Given the description of an element on the screen output the (x, y) to click on. 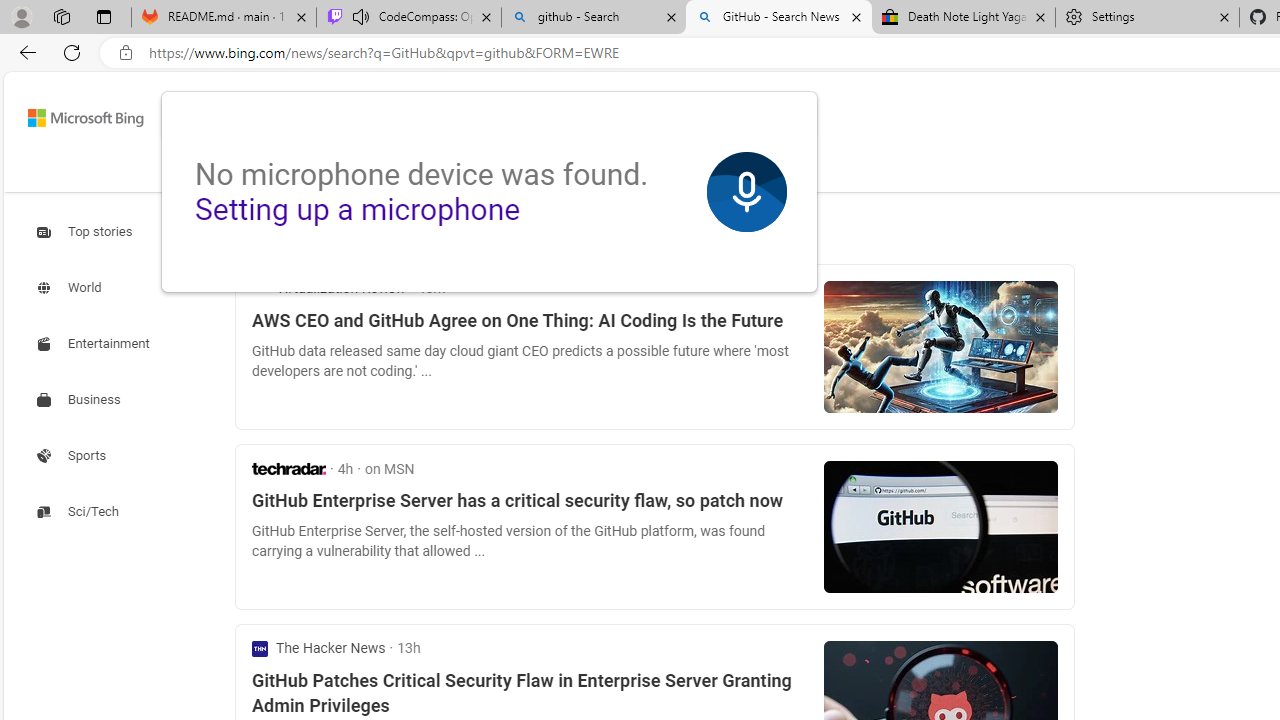
VIDEOS (473, 173)
github - Search (593, 17)
SEARCH (219, 170)
Search news about Top stories (86, 231)
Best match (397, 232)
